Given the description of an element on the screen output the (x, y) to click on. 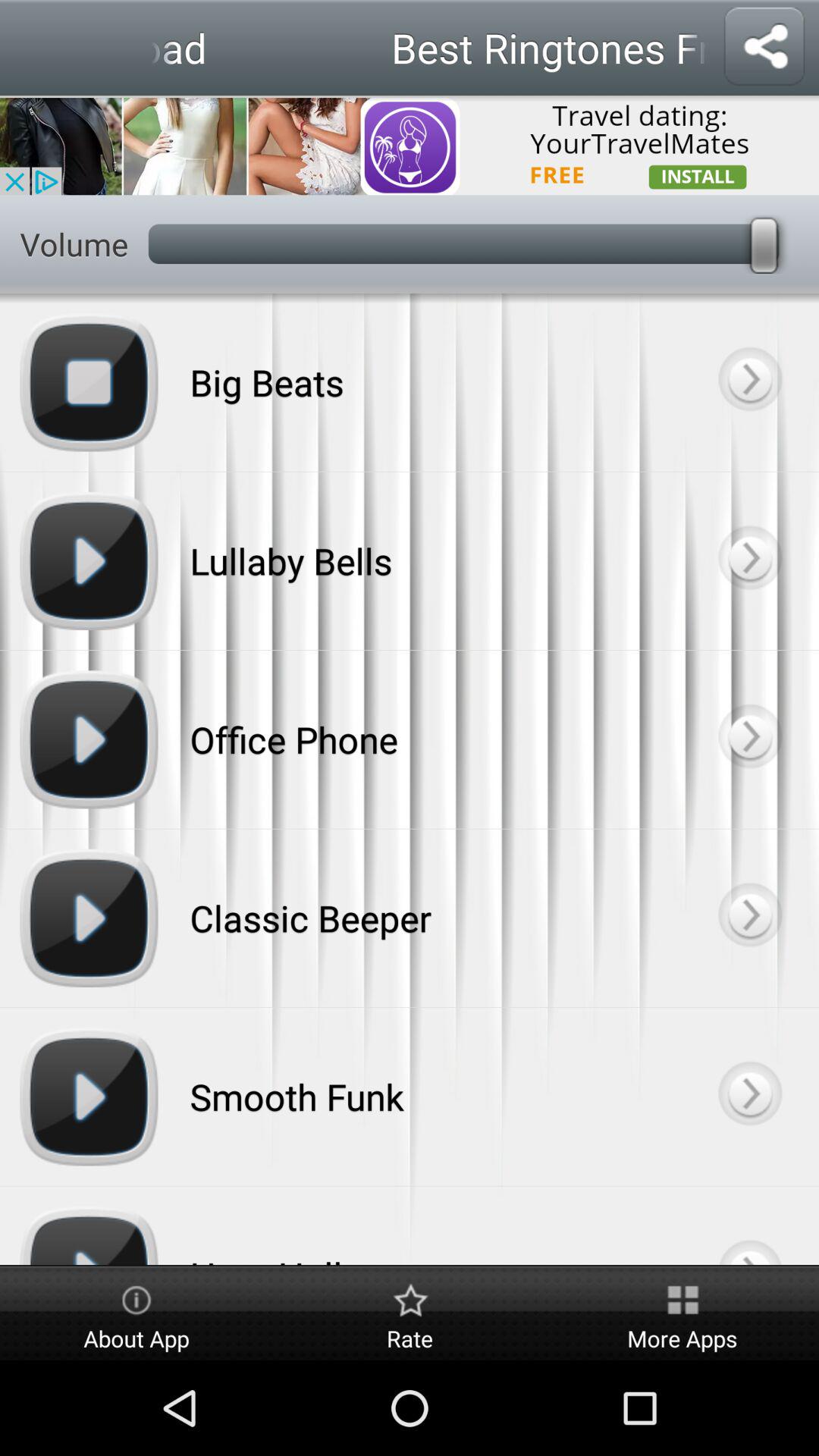
opens an advertisement (409, 145)
